Given the description of an element on the screen output the (x, y) to click on. 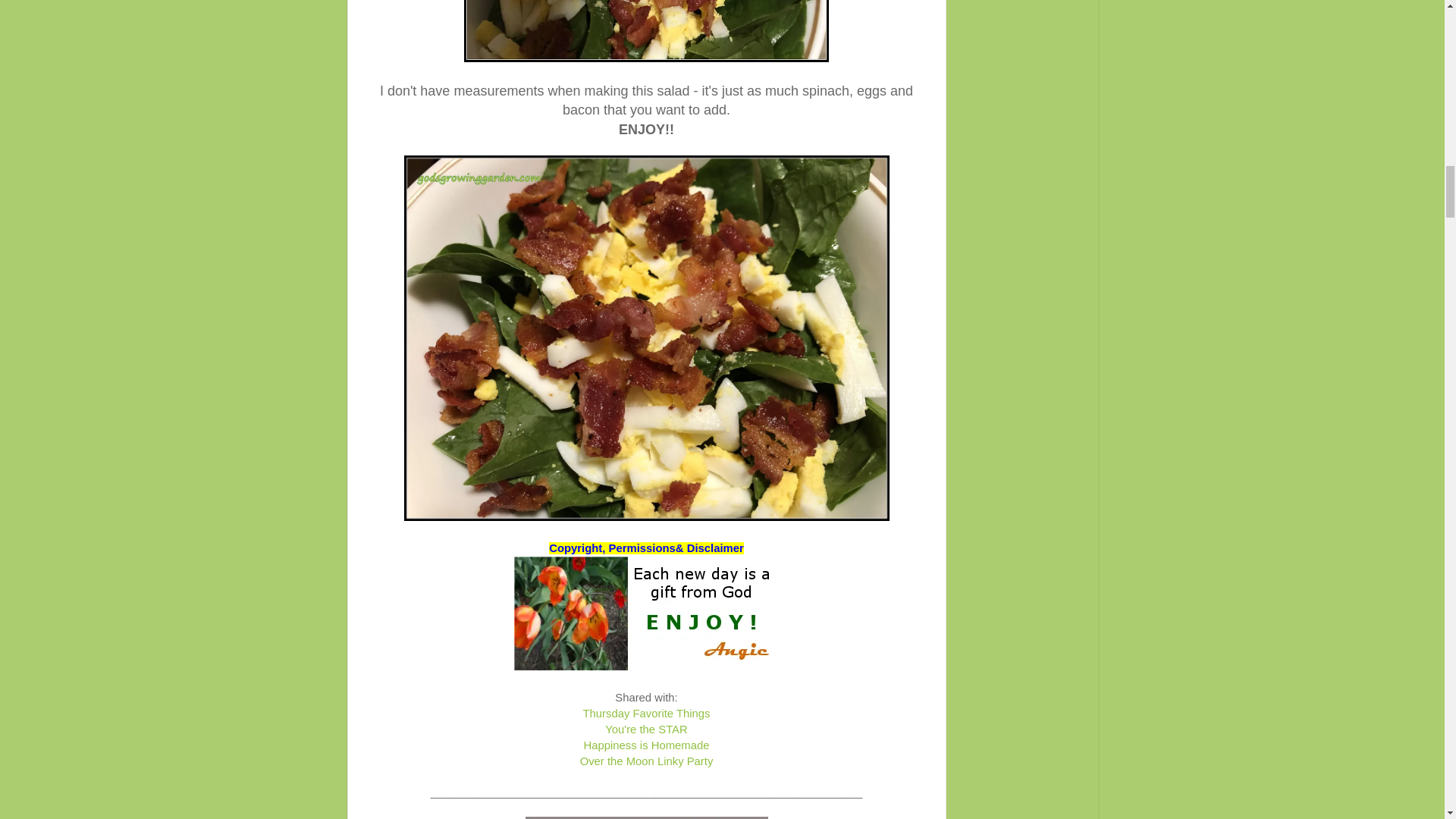
Thursday Favorite Things (646, 713)
Happiness is Homemade (646, 745)
You're the STAR (646, 729)
Over the Moon Linky Party (646, 761)
